Given the description of an element on the screen output the (x, y) to click on. 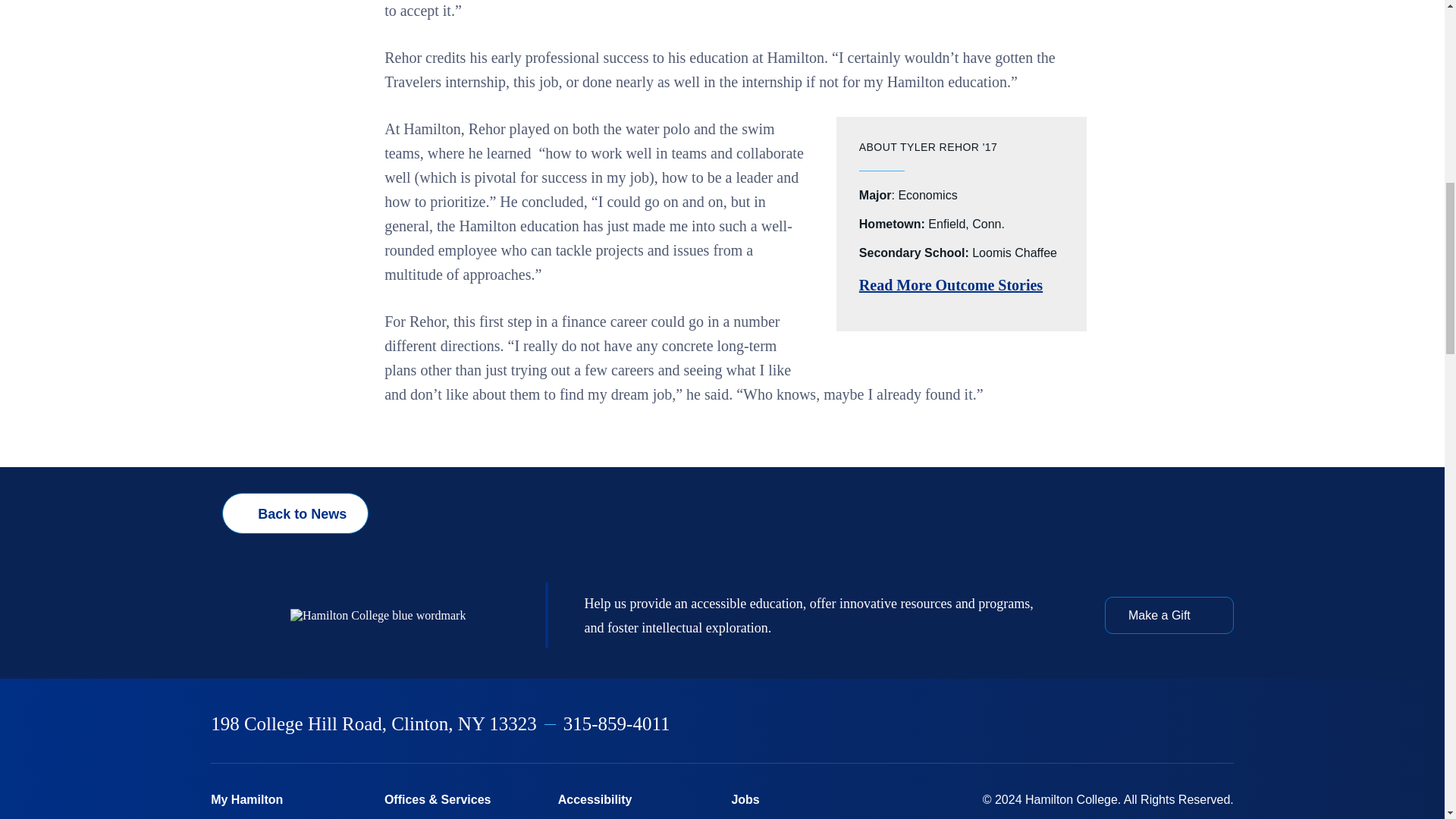
Instagram (1109, 725)
Back to News (295, 513)
Make a Gift (1169, 615)
Youtube (1188, 724)
198 College Hill Road, Clinton, NY 13323 (373, 724)
My Hamilton (288, 799)
Facebook (1029, 725)
TikTok (1226, 725)
315-859-4011 (617, 724)
Linkedin (1149, 725)
Read More Outcome Stories (950, 284)
Twitter (1069, 725)
